Given the description of an element on the screen output the (x, y) to click on. 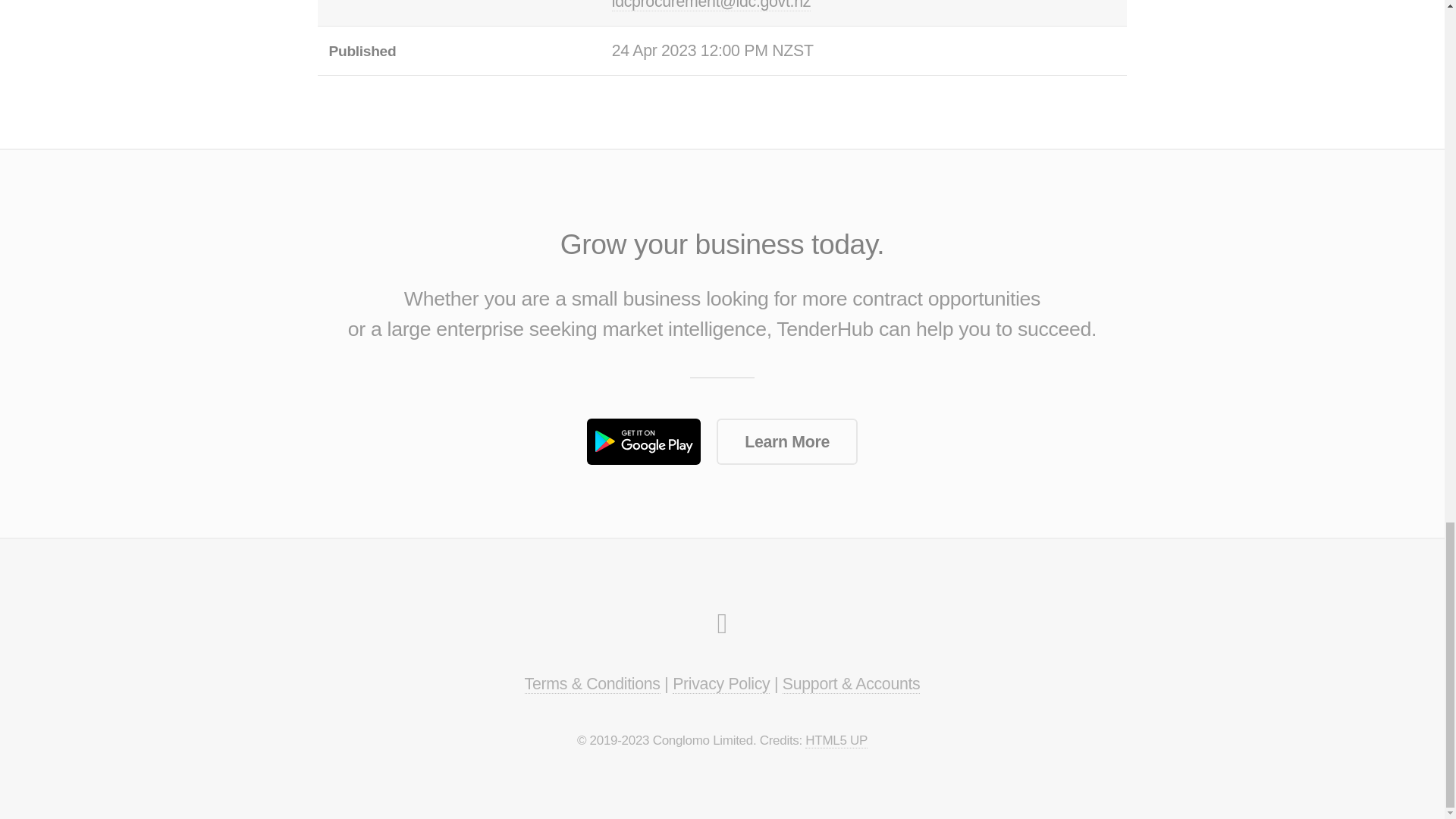
Learn More (786, 441)
Get it on Google Play (643, 441)
HTML5 UP (836, 740)
Privacy Policy (721, 683)
